Given the description of an element on the screen output the (x, y) to click on. 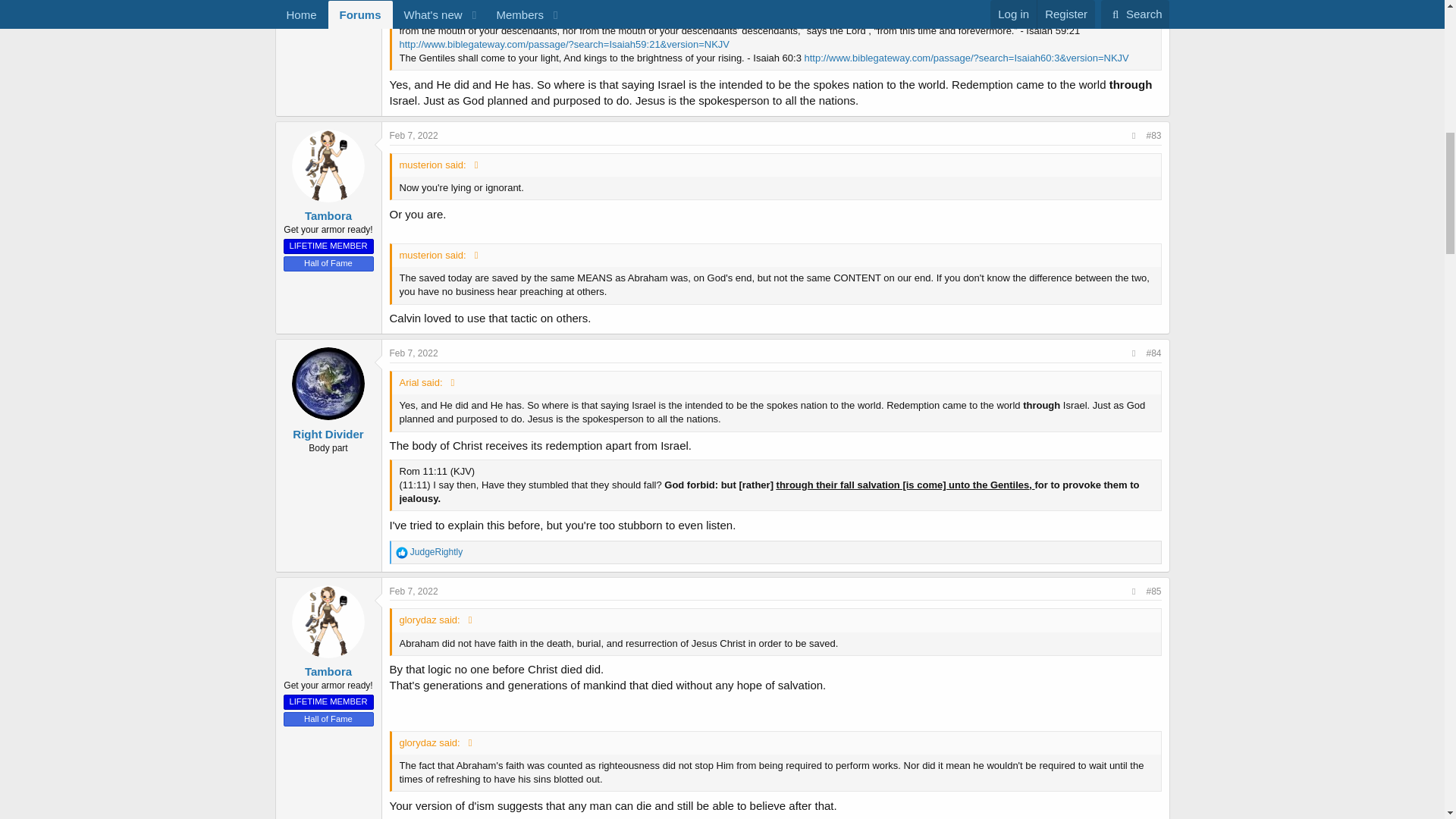
Like (401, 552)
Feb 7, 2022 at 12:09 PM (414, 353)
Feb 7, 2022 at 11:59 AM (414, 135)
Feb 7, 2022 at 12:11 PM (414, 591)
